Given the description of an element on the screen output the (x, y) to click on. 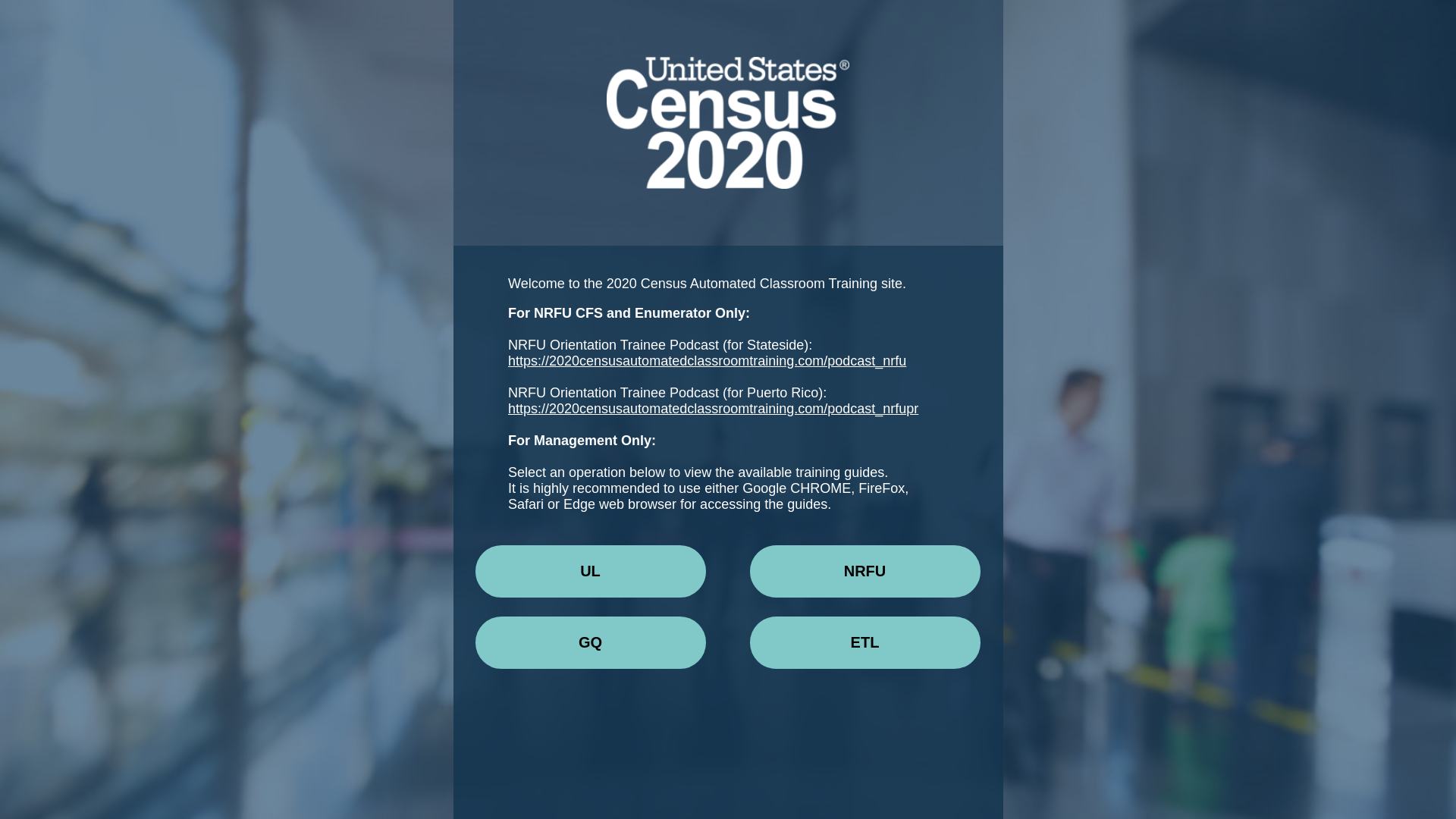
GQ Element type: text (589, 642)
ETL Element type: text (864, 642)
UL Element type: text (589, 571)
NRFU Element type: text (864, 571)
